Given the description of an element on the screen output the (x, y) to click on. 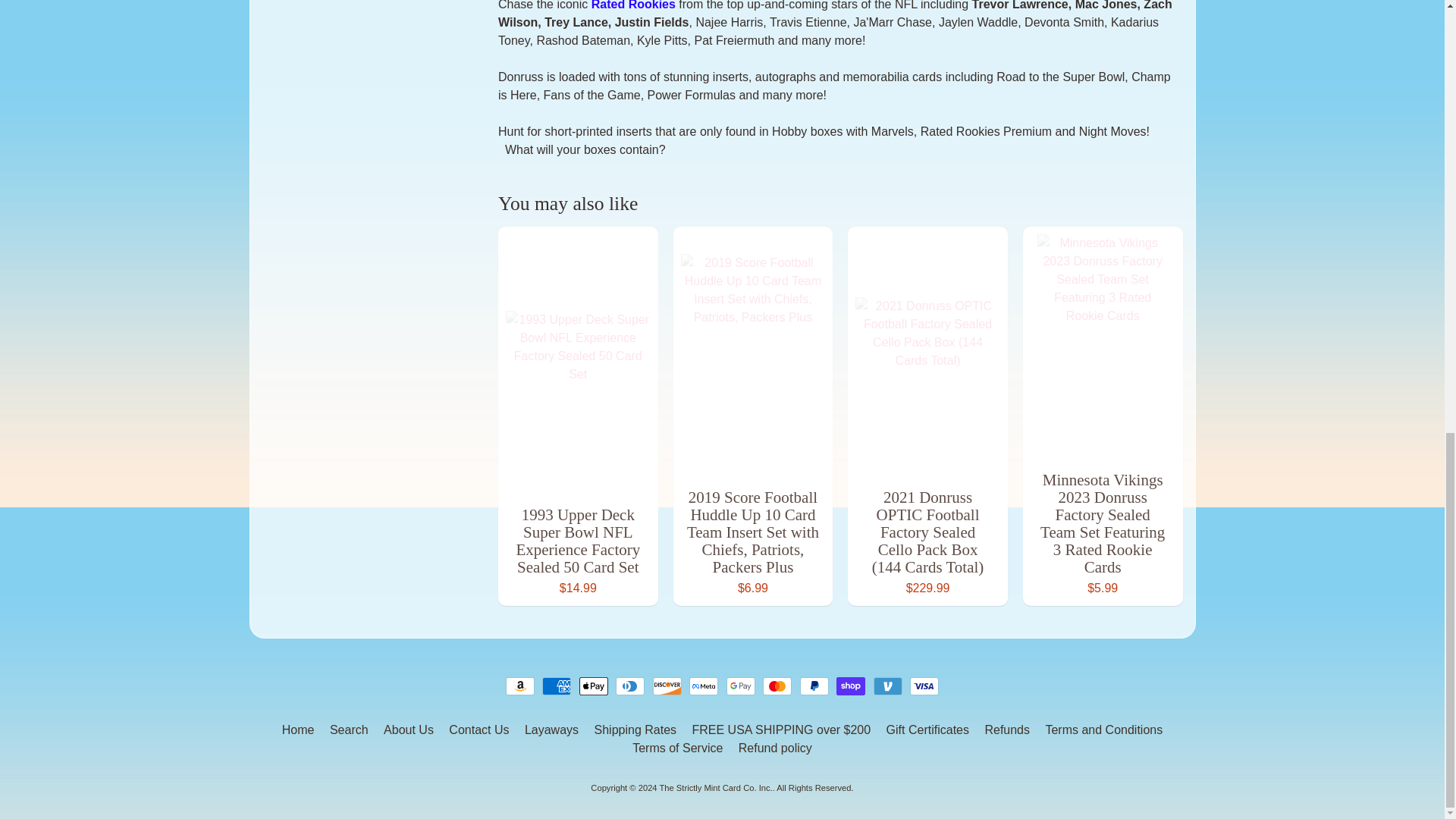
PayPal (813, 686)
Shop Pay (849, 686)
Mastercard (777, 686)
Meta Pay (702, 686)
American Express (555, 686)
Diners Club (630, 686)
Google Pay (740, 686)
Venmo (887, 686)
Discover (666, 686)
Apple Pay (593, 686)
